Given the description of an element on the screen output the (x, y) to click on. 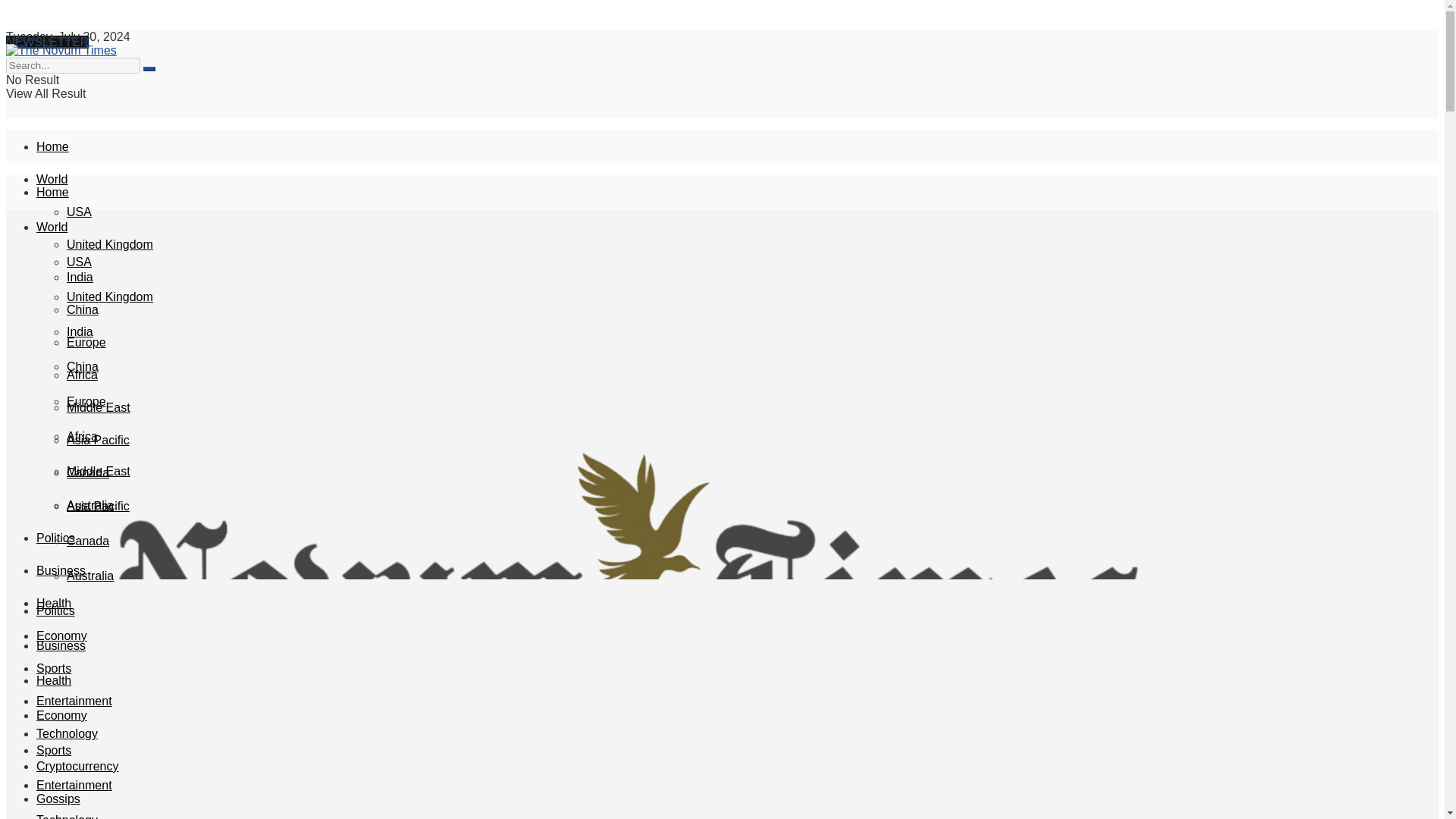
Canada (87, 472)
Business (60, 570)
India (79, 277)
United Kingdom (109, 296)
Economy (61, 635)
NEWSLETTER (46, 42)
Middle East (98, 407)
China (82, 309)
Entertainment (74, 700)
China (82, 366)
Gossips (58, 798)
Australia (89, 504)
USA (78, 211)
USA (78, 261)
Health (53, 603)
